Given the description of an element on the screen output the (x, y) to click on. 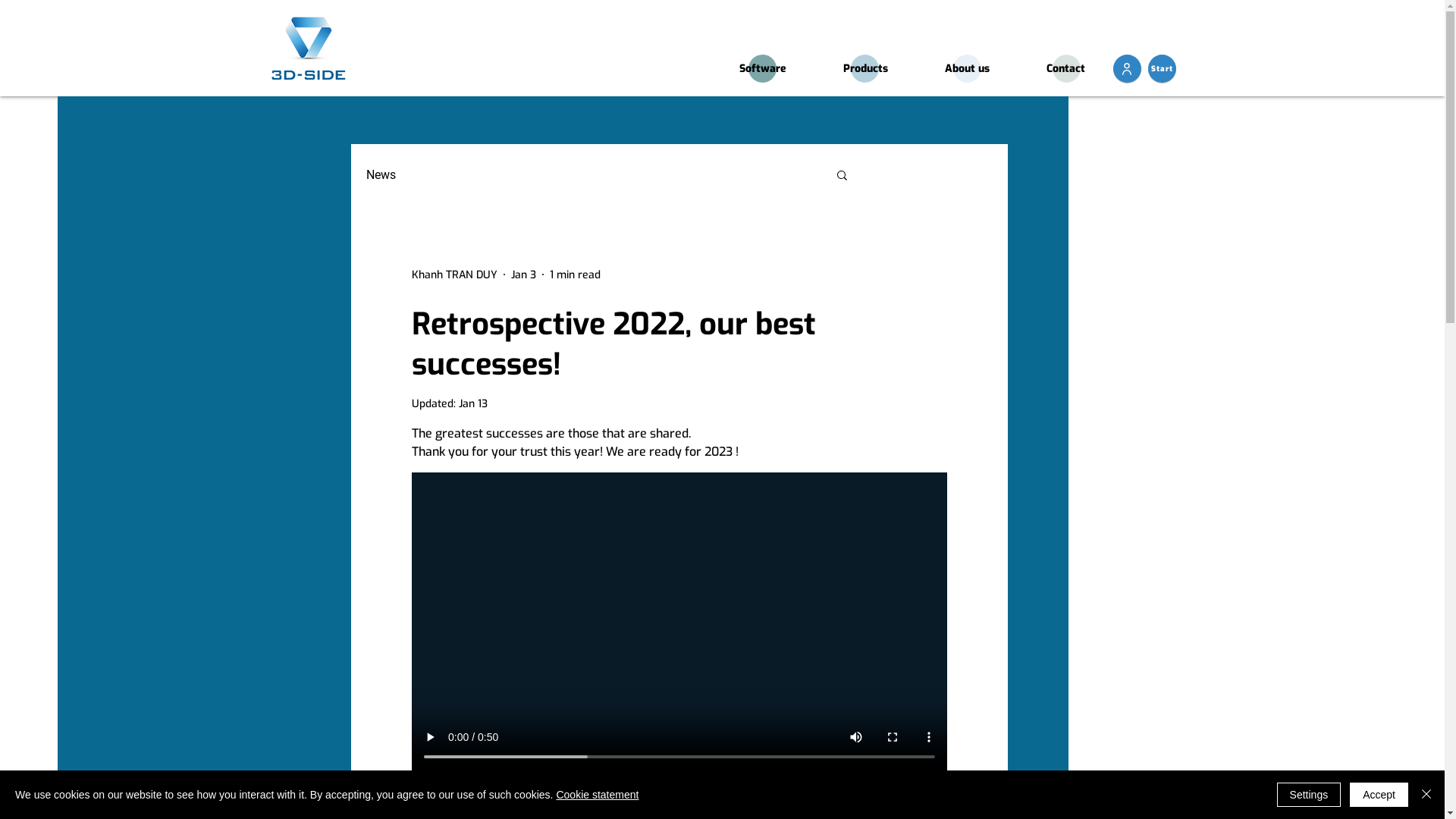
Khanh TRAN DUY Element type: text (453, 274)
Settings Element type: text (1309, 794)
Contact Element type: text (1065, 68)
Products Element type: text (865, 68)
Software Element type: text (761, 68)
About us Element type: text (966, 68)
Cookie statement Element type: text (596, 794)
Start Element type: text (1162, 68)
Accept Element type: text (1378, 794)
News Element type: text (380, 173)
Log in / Sign up Element type: text (935, 174)
